Given the description of an element on the screen output the (x, y) to click on. 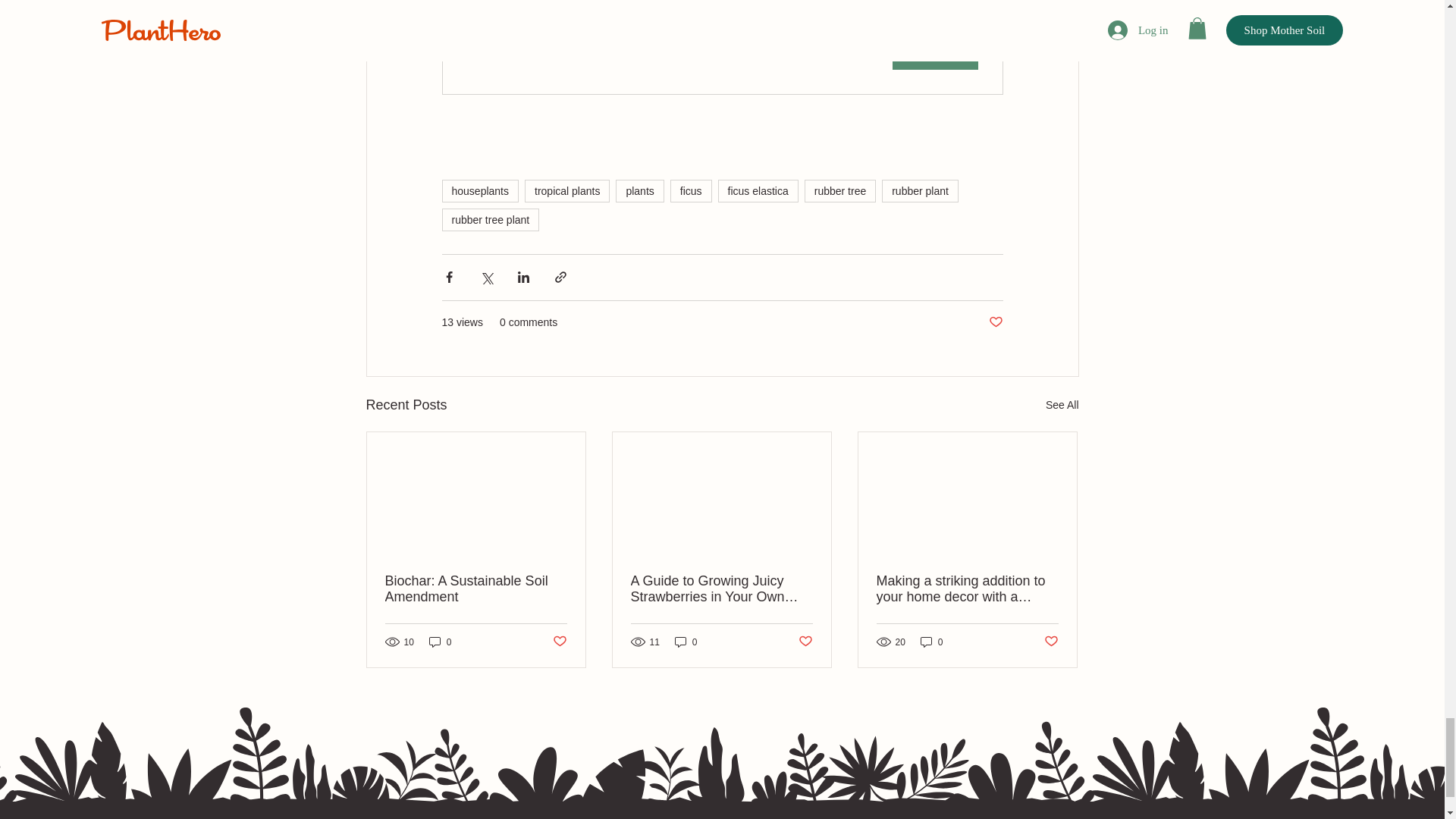
Post not marked as liked (995, 322)
0 (440, 641)
houseplants (479, 190)
See All (1061, 404)
rubber tree plant (489, 219)
plants (639, 190)
Biochar: A Sustainable Soil Amendment (476, 589)
rubber tree (840, 190)
ficus (690, 190)
ficus elastica (757, 190)
